Given the description of an element on the screen output the (x, y) to click on. 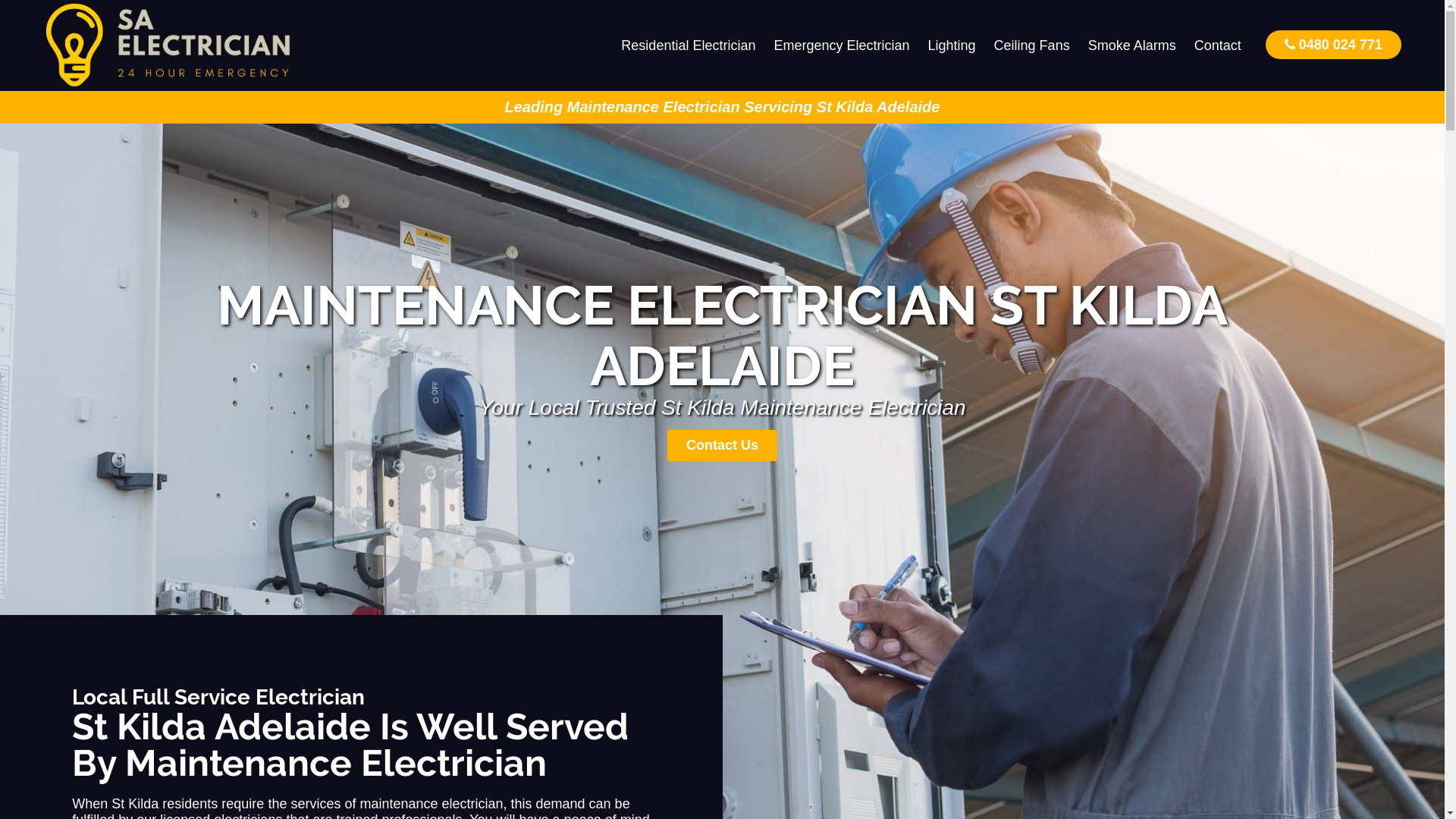
Emergency Electrician Element type: text (841, 45)
Smoke Alarms Element type: text (1132, 45)
Ceiling Fans Element type: text (1032, 45)
Lighting Element type: text (952, 45)
Contact Element type: text (1217, 45)
0480 024 771 Element type: text (1333, 44)
Contact Us Element type: text (722, 445)
Residential Electrician Element type: text (687, 45)
